Given the description of an element on the screen output the (x, y) to click on. 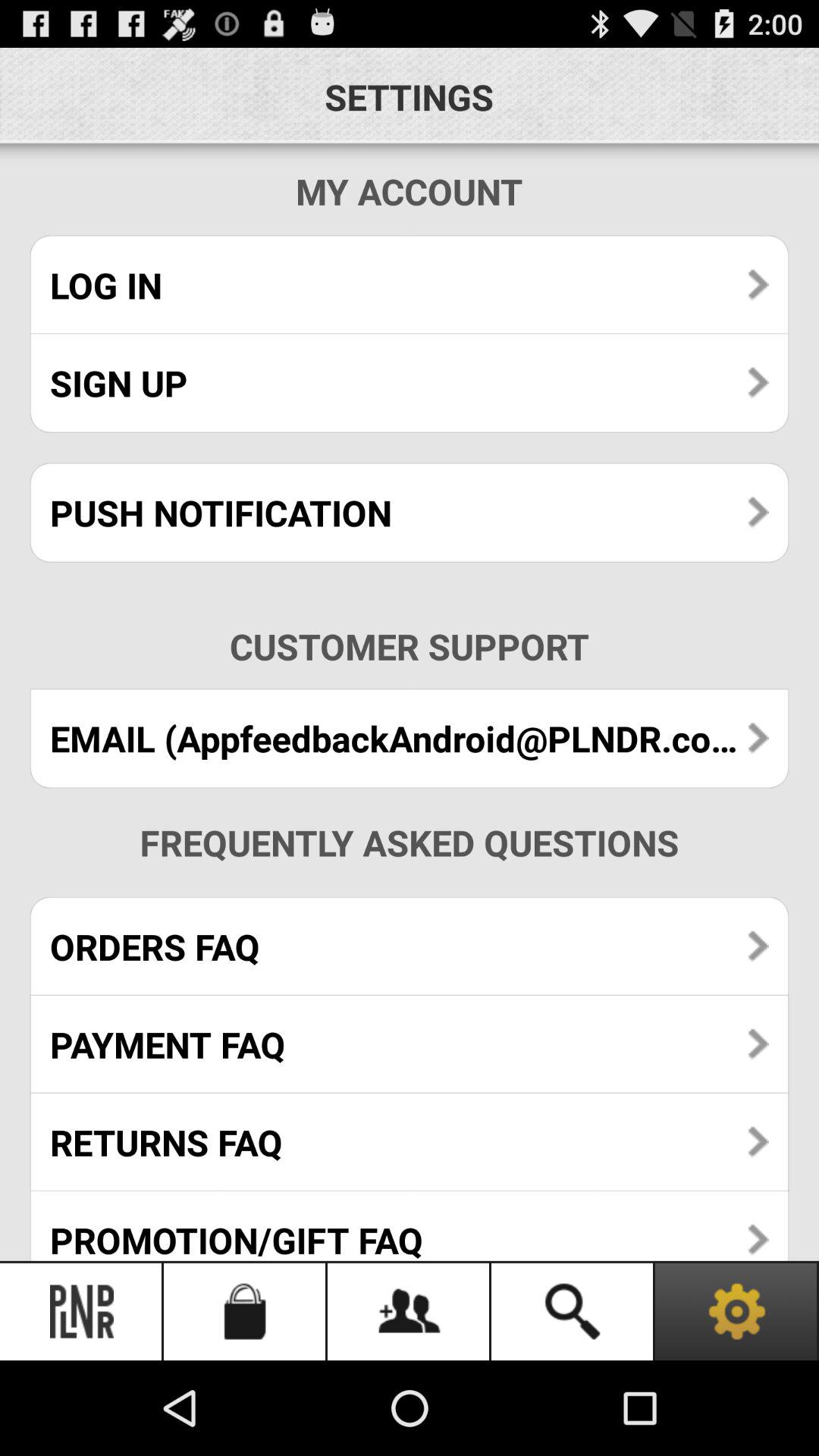
launch the log in icon (409, 284)
